Given the description of an element on the screen output the (x, y) to click on. 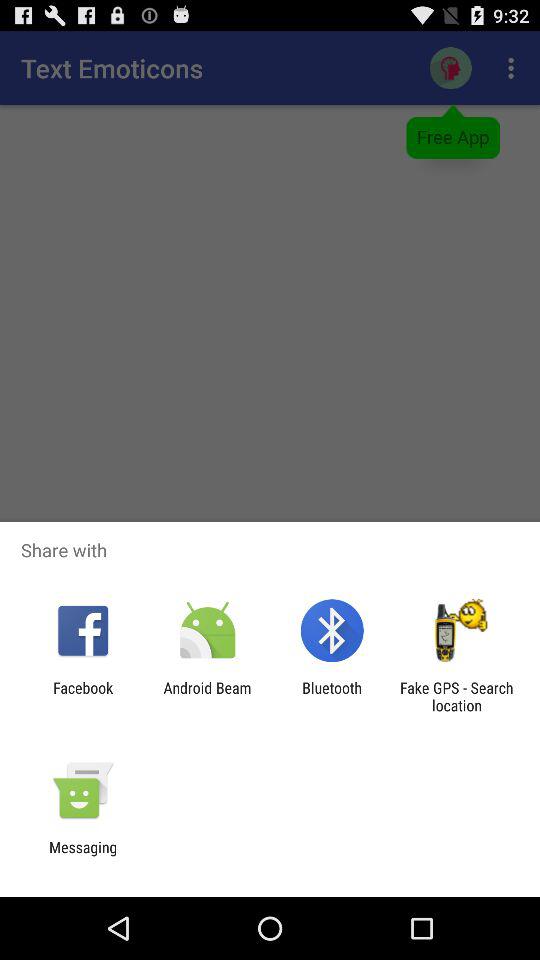
tap icon next to bluetooth icon (207, 696)
